Given the description of an element on the screen output the (x, y) to click on. 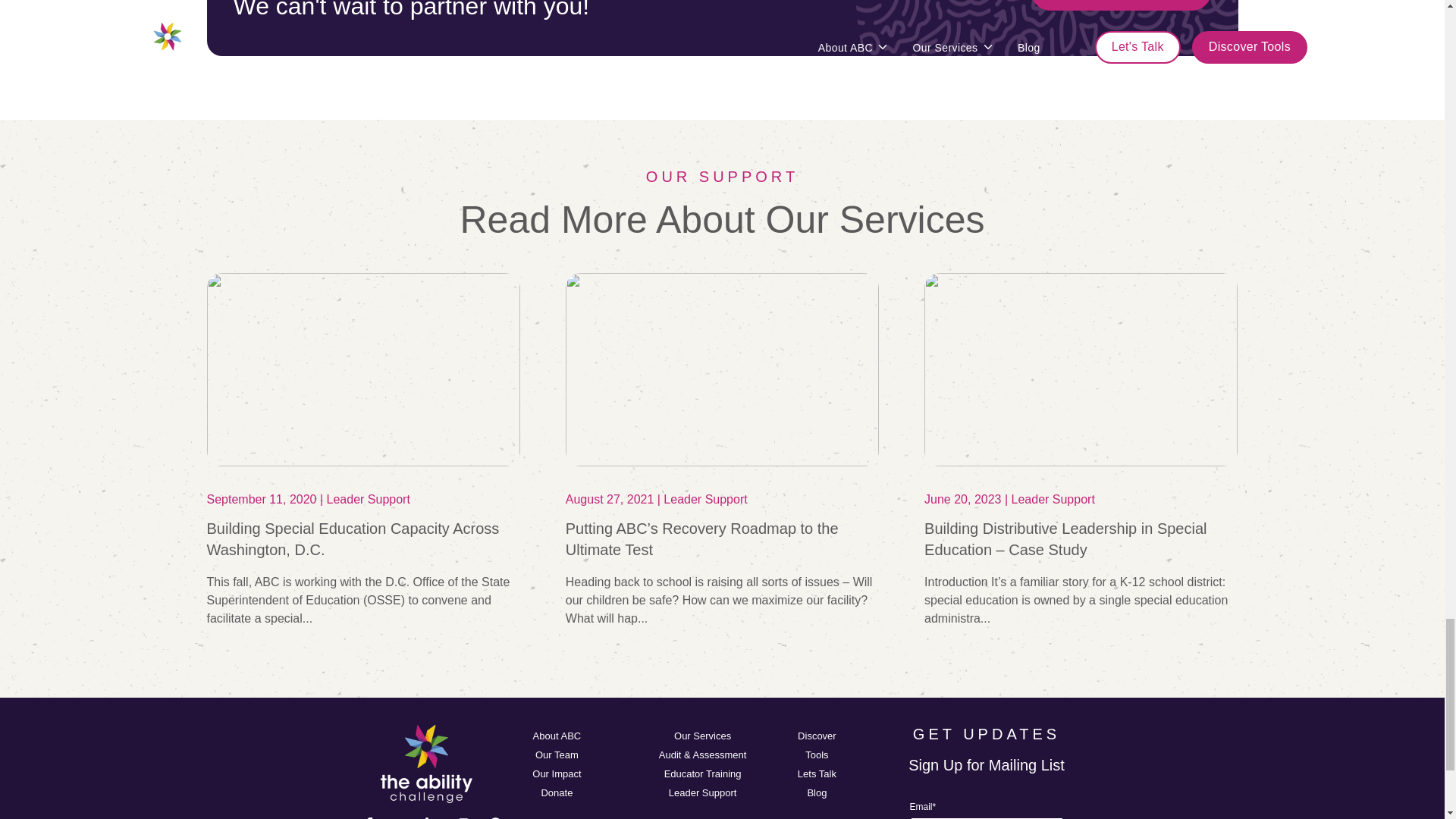
Schedule a Call Today! (1120, 5)
About ABC (556, 735)
Building Special Education Capacity Across Washington, D.C. (352, 538)
